Given the description of an element on the screen output the (x, y) to click on. 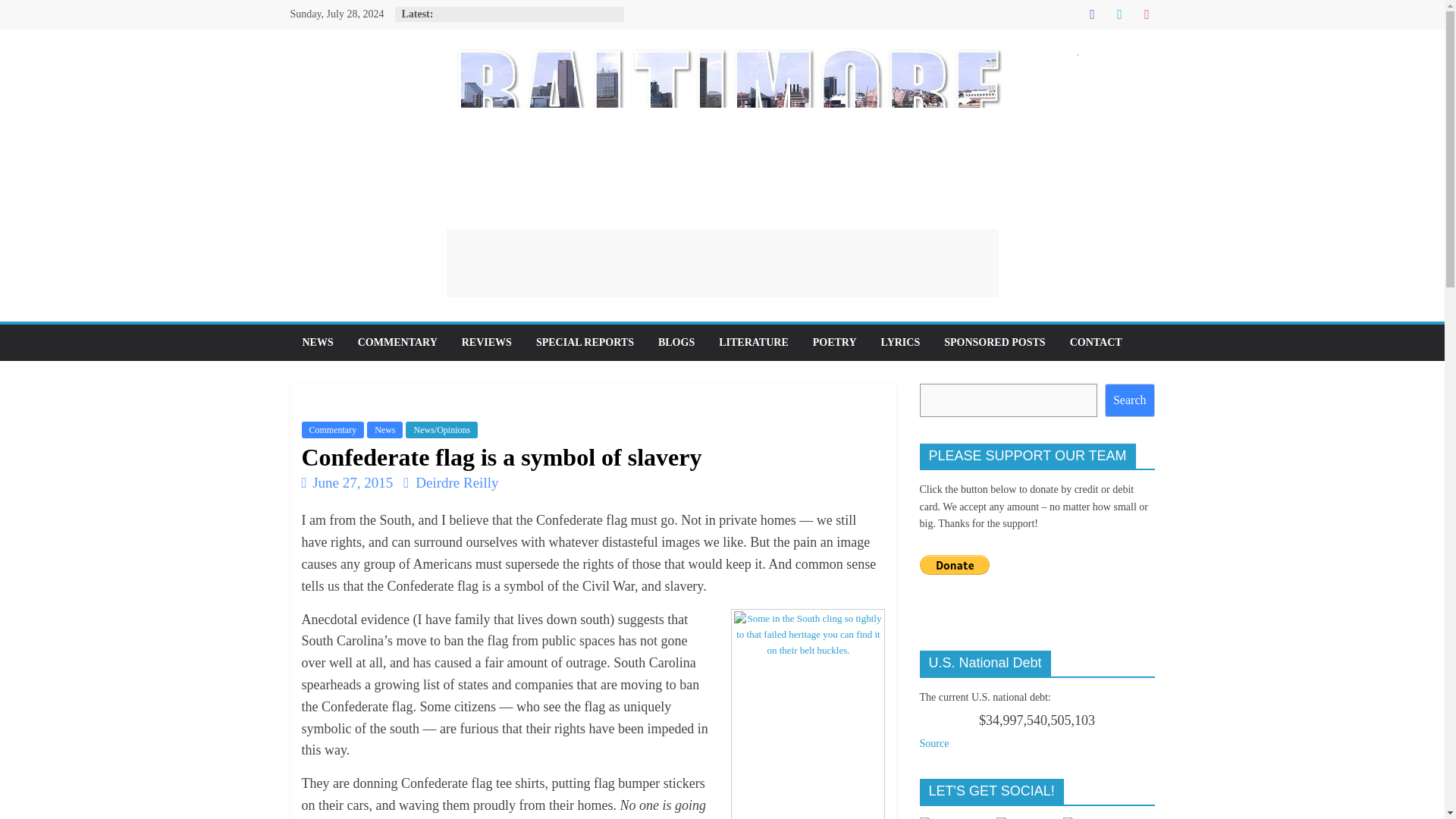
Source (933, 743)
Search (1129, 400)
6:30 PM (347, 482)
COMMENTARY (397, 342)
SPONSORED POSTS (994, 342)
LITERATURE (753, 342)
POETRY (834, 342)
REVIEWS (486, 342)
CONTACT (1096, 342)
Commentary (333, 429)
BLOGS (676, 342)
Deirdre Reilly (455, 482)
NEWS (317, 342)
June 27, 2015 (347, 482)
LYRICS (901, 342)
